Given the description of an element on the screen output the (x, y) to click on. 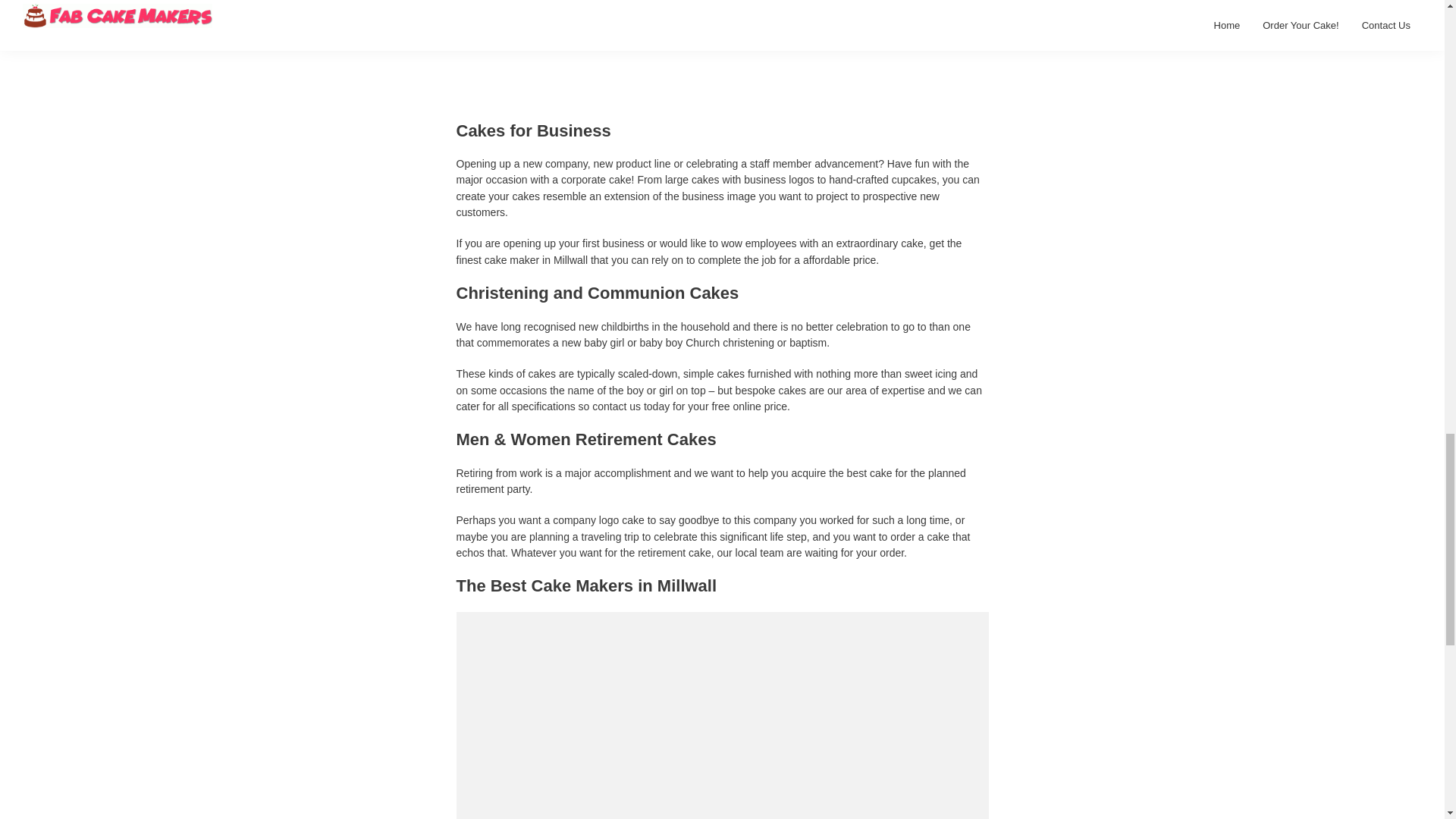
Click Here to Get Started! (722, 42)
